Given the description of an element on the screen output the (x, y) to click on. 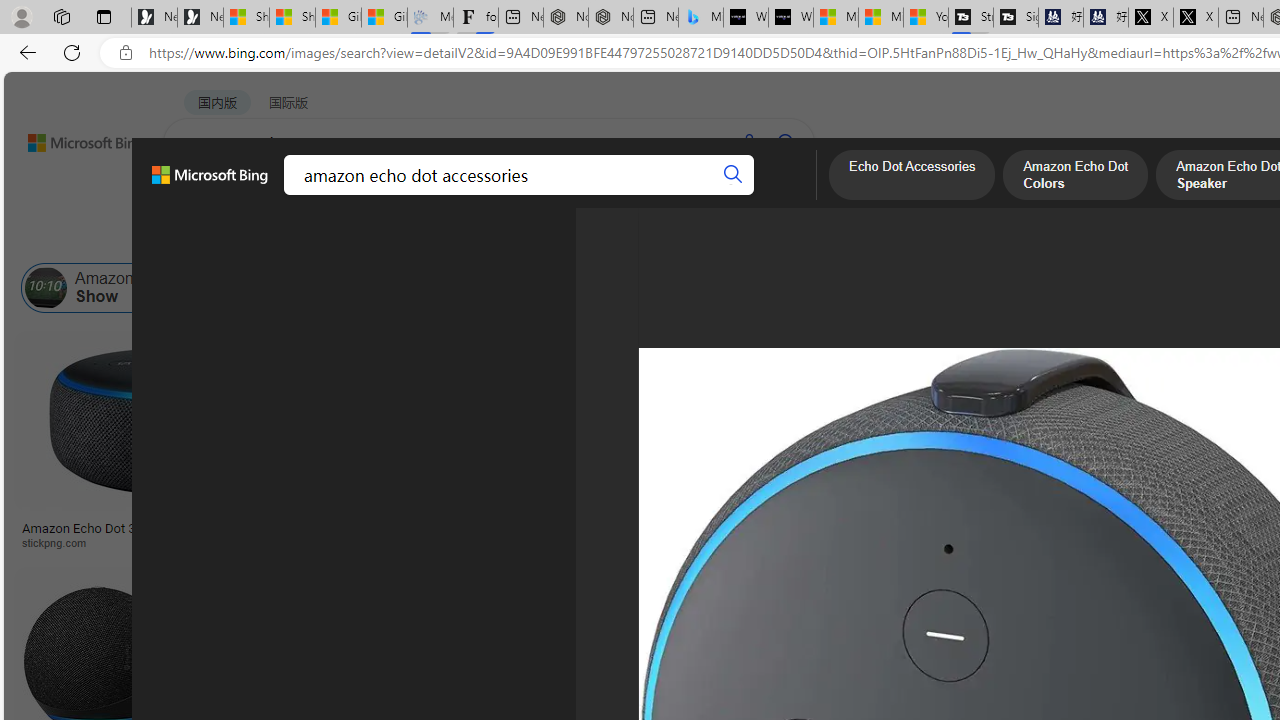
Amazon Echo Show (45, 287)
ACADEMIC (548, 195)
MAPS (698, 195)
Type (372, 237)
stickpng.com (1149, 541)
Amazon Echo Speaker (1199, 287)
Amazon Alexa Echo (228, 287)
WEB (201, 195)
VIDEOS (458, 195)
